Given the description of an element on the screen output the (x, y) to click on. 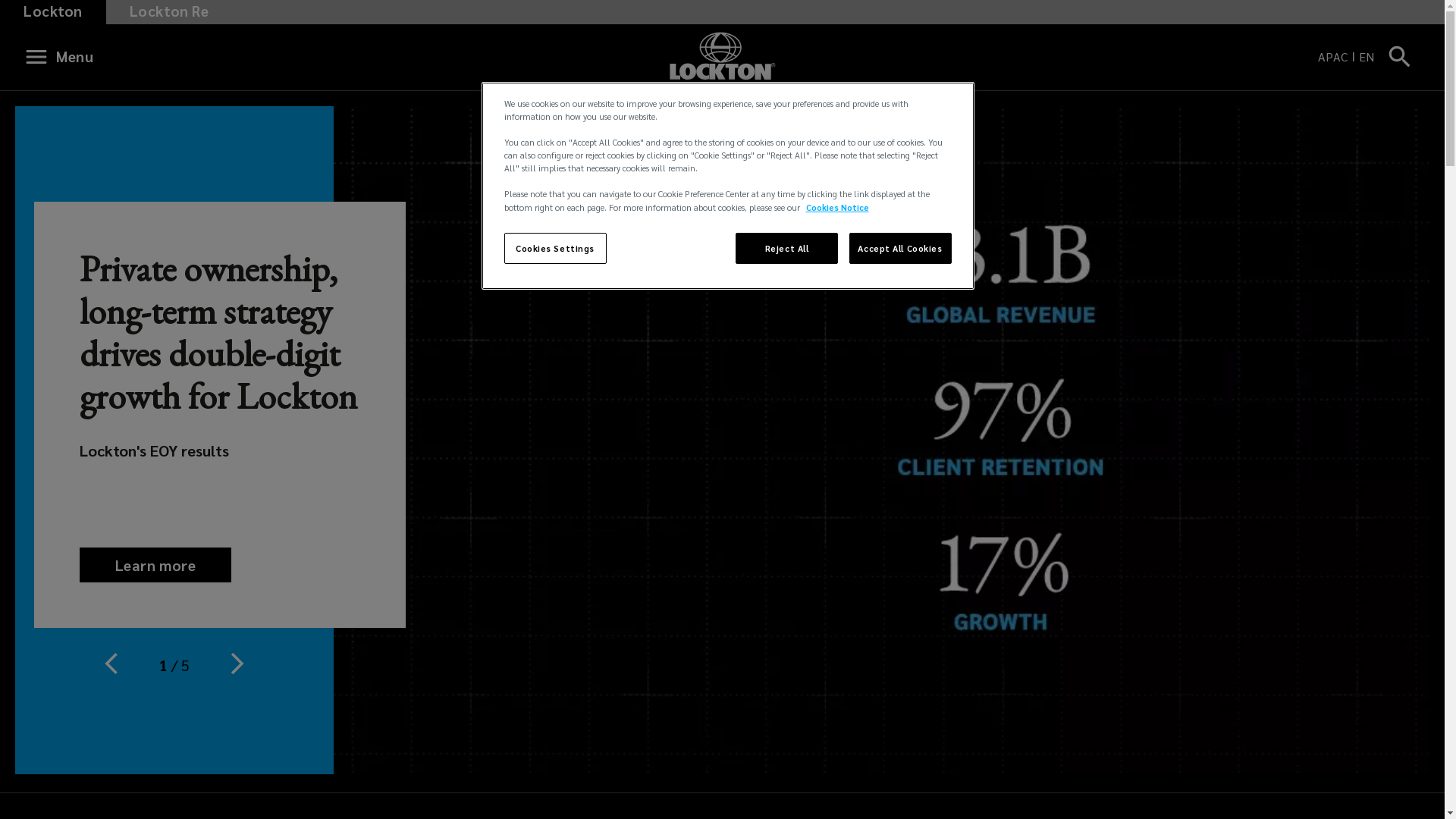
APACEN Element type: text (1347, 56)
Menu Element type: text (63, 56)
Accept All Cookies Element type: text (900, 248)
Learn more Element type: text (155, 564)
Skip to main content Element type: text (19, 8)
Cookies Settings Element type: text (554, 248)
Reject All Element type: text (786, 248)
Cookies Notice Element type: text (836, 207)
